Given the description of an element on the screen output the (x, y) to click on. 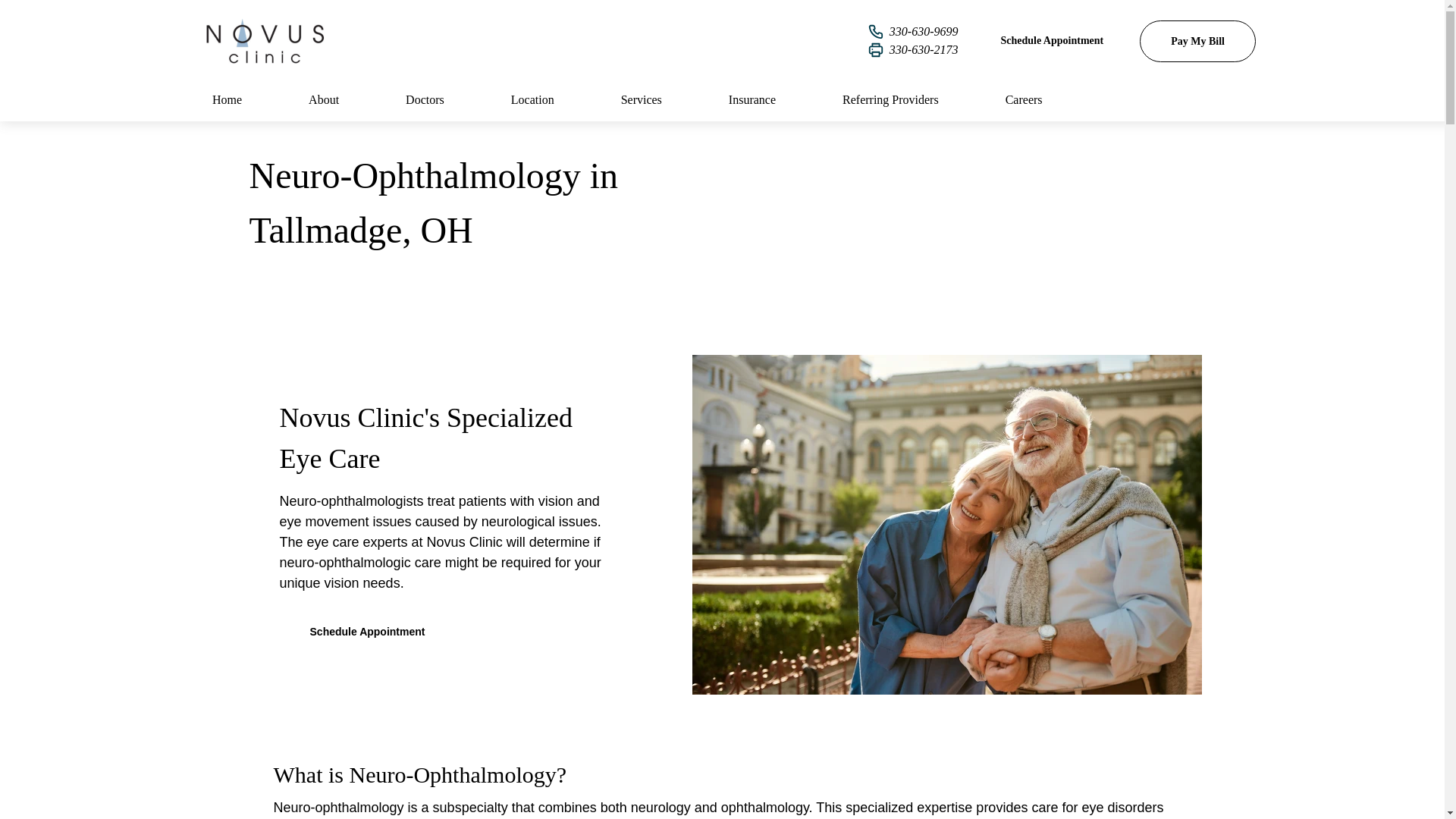
Schedule Appointment (1051, 40)
Home (227, 99)
Referring Providers (890, 99)
Insurance (752, 99)
Careers (1024, 99)
About (323, 99)
330-630-9699 (912, 31)
Schedule Appointment (367, 631)
Location (532, 99)
Services (642, 99)
Pay My Bill (1197, 40)
Doctors (424, 99)
